Given the description of an element on the screen output the (x, y) to click on. 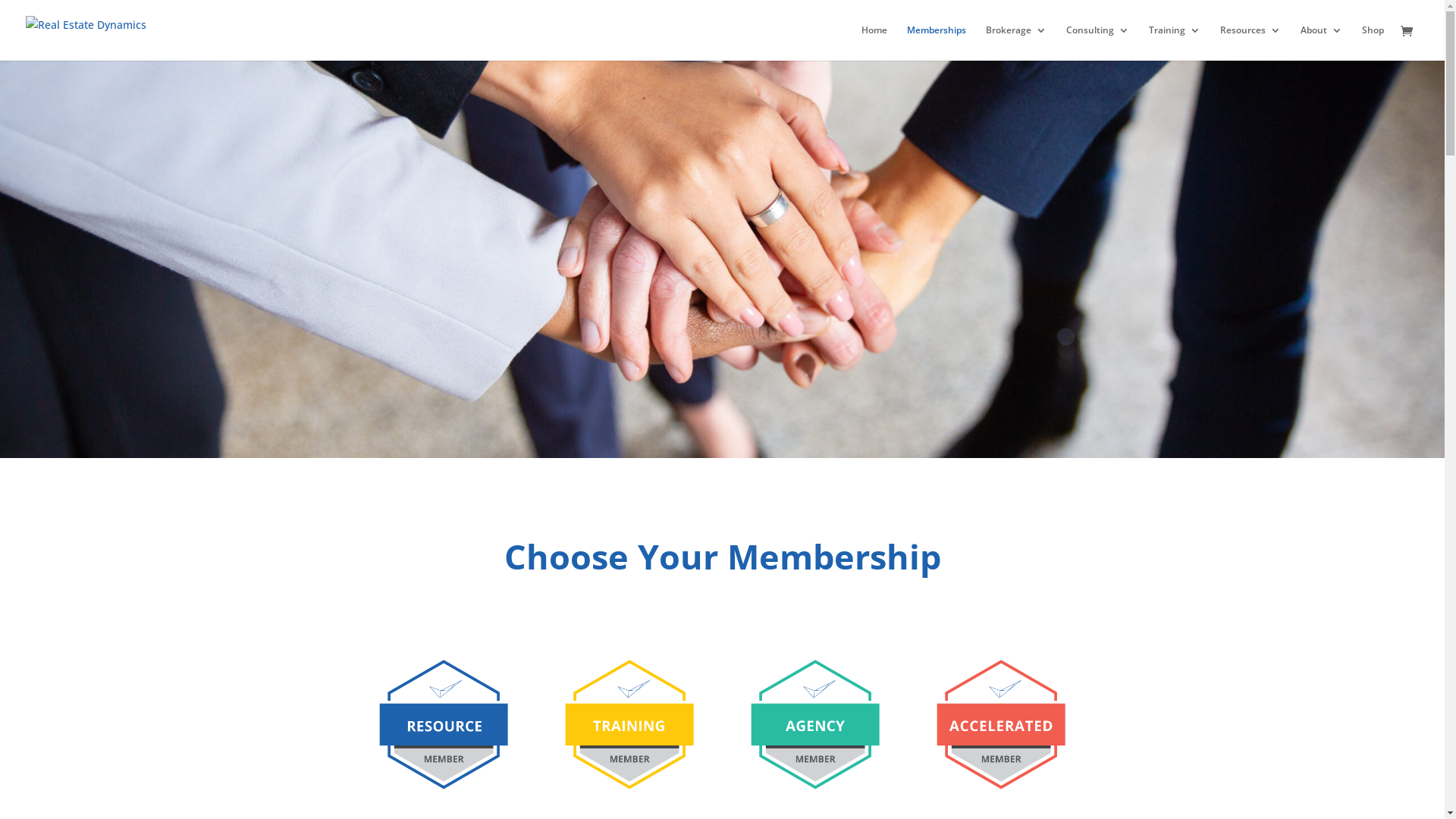
Memberships Element type: text (936, 42)
Consulting Element type: text (1097, 42)
Brokerage Element type: text (1015, 42)
Shop Element type: text (1372, 42)
About Element type: text (1321, 42)
Home Element type: text (874, 42)
Training Element type: text (1174, 42)
Resources Element type: text (1250, 42)
